Given the description of an element on the screen output the (x, y) to click on. 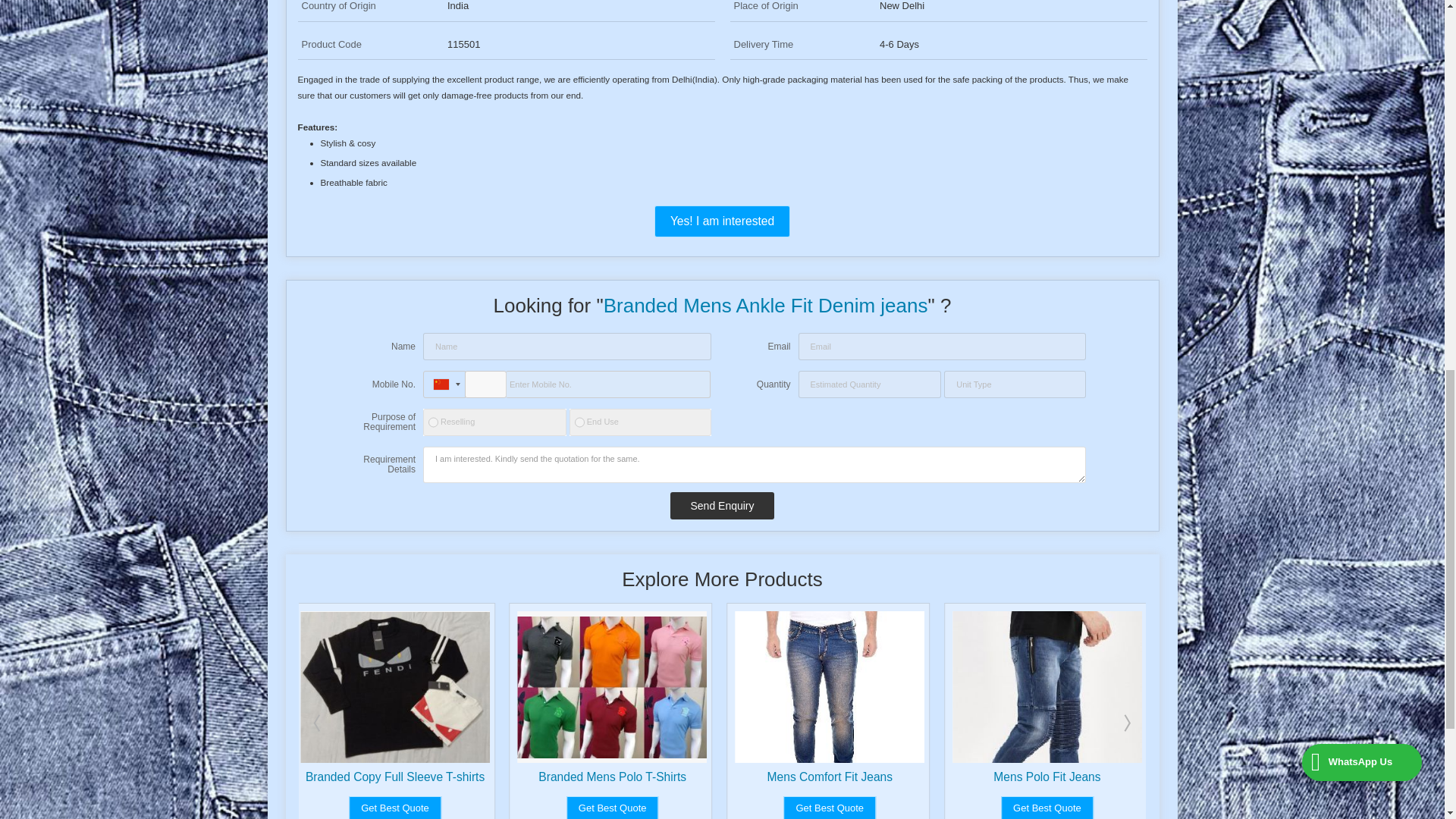
Send Enquiry (721, 505)
